Given the description of an element on the screen output the (x, y) to click on. 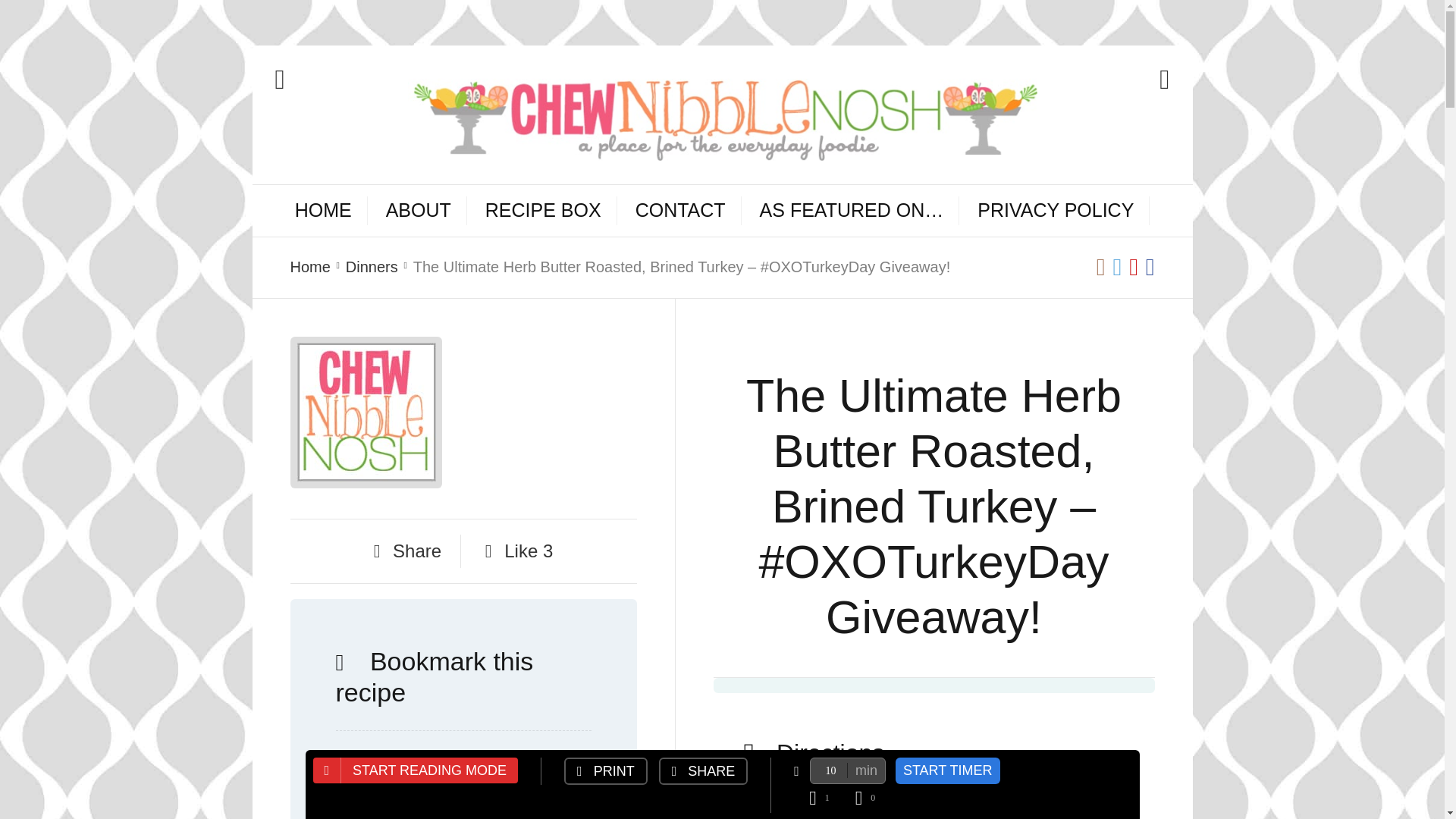
Share (407, 550)
1 (830, 798)
SHARE (703, 770)
START READING MODE (415, 769)
ABOUT (418, 210)
PRINT (605, 770)
Dinners (371, 267)
HOME (323, 210)
10 (847, 770)
RECIPE BOX (542, 210)
PRIVACY POLICY (1055, 210)
CONTACT (679, 210)
Home (309, 267)
START TIMER (947, 770)
View all posts in Dinners (371, 267)
